Given the description of an element on the screen output the (x, y) to click on. 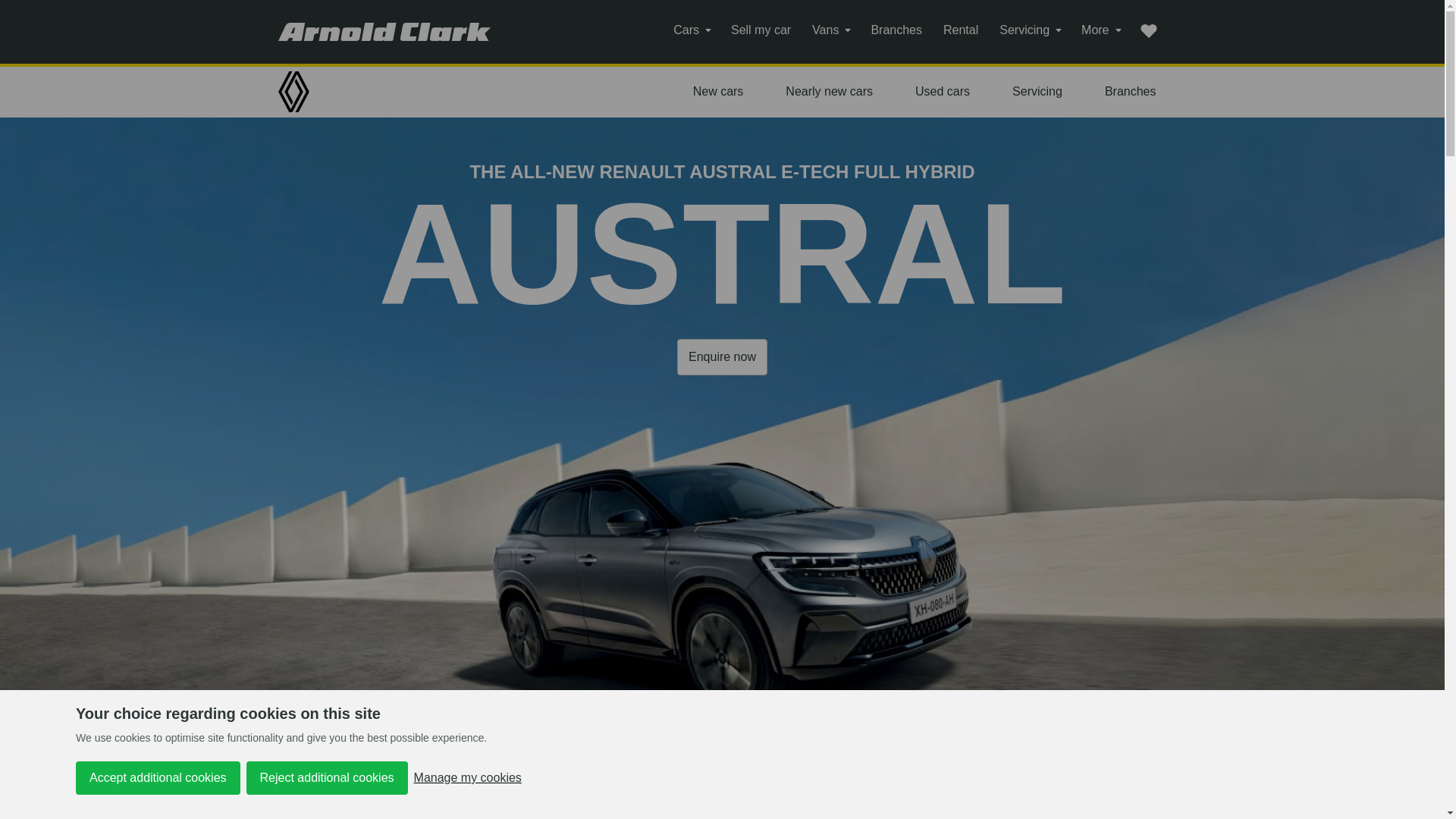
Used Cars (942, 91)
Nearly New Cars (829, 91)
Arnold Clark Renault (307, 91)
New Cars (718, 91)
Servicing (1036, 91)
Branches (1130, 91)
Cars (691, 29)
